Given the description of an element on the screen output the (x, y) to click on. 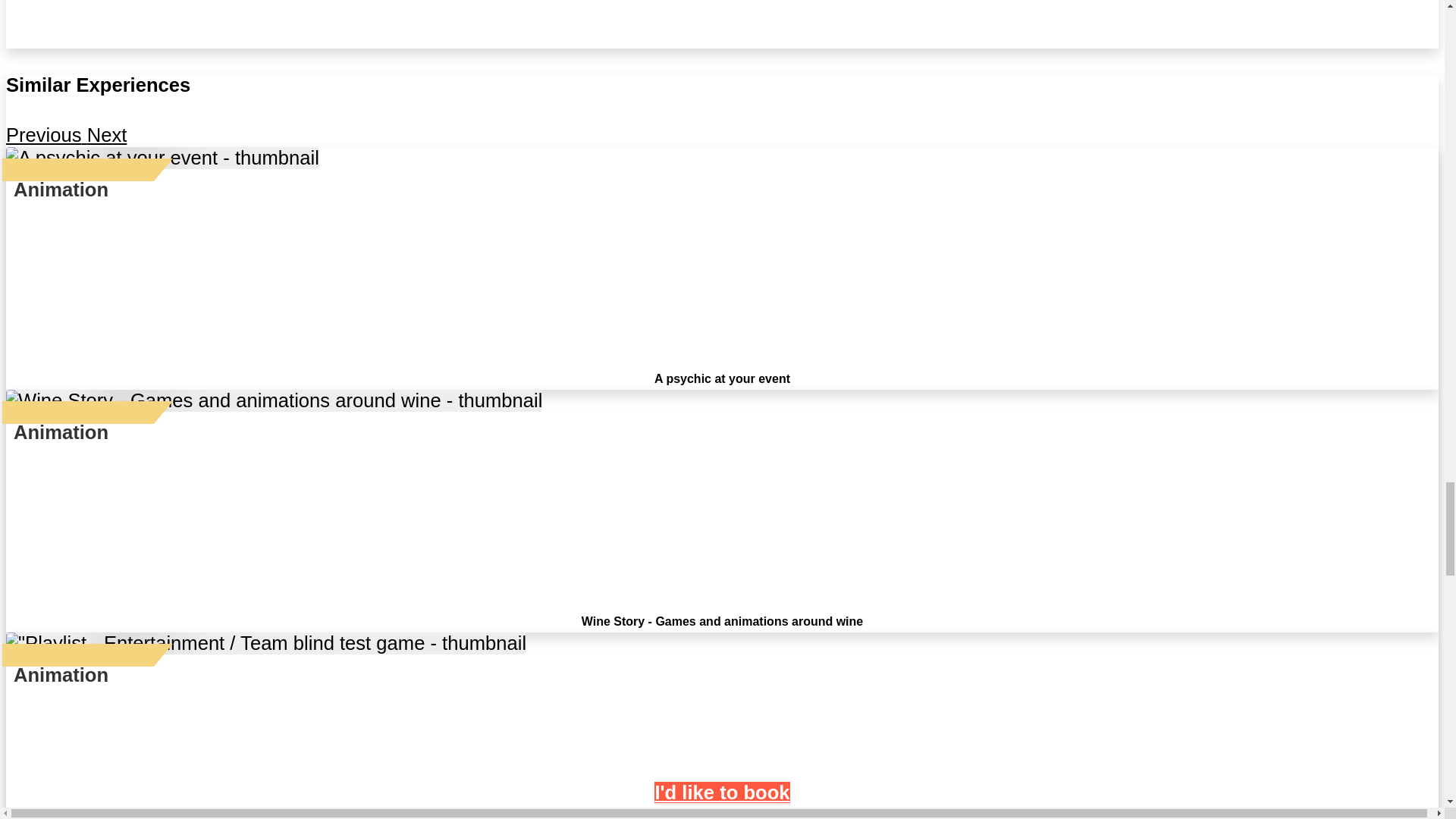
Previous (46, 134)
Wine Story - Games and animations around wine (721, 621)
A psychic at your event (721, 378)
Next (107, 134)
